Given the description of an element on the screen output the (x, y) to click on. 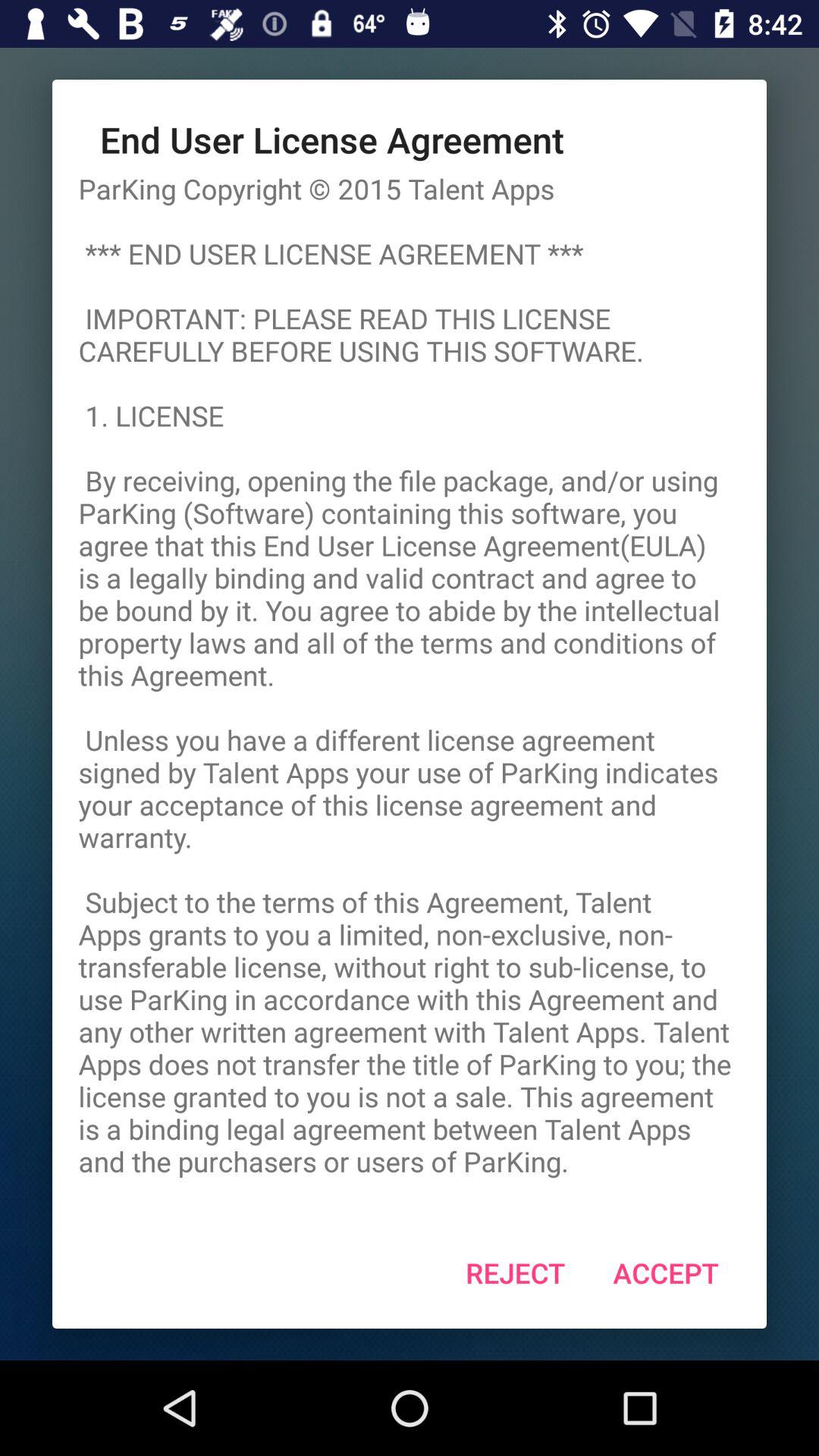
select the icon to the right of the reject (665, 1272)
